Given the description of an element on the screen output the (x, y) to click on. 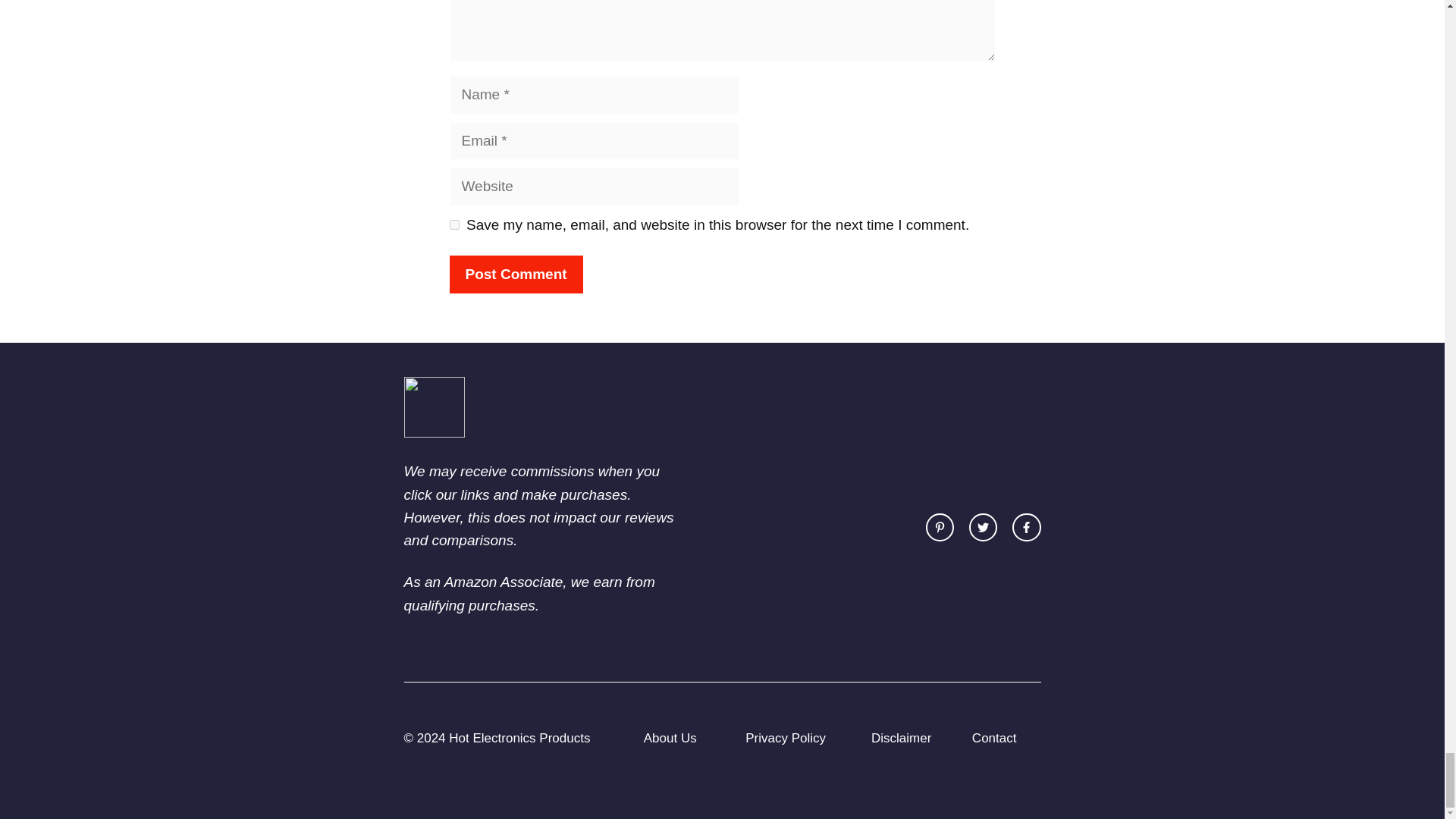
Post Comment (515, 274)
yes (453, 225)
Hot-Electronics-Products-1 (433, 406)
